Given the description of an element on the screen output the (x, y) to click on. 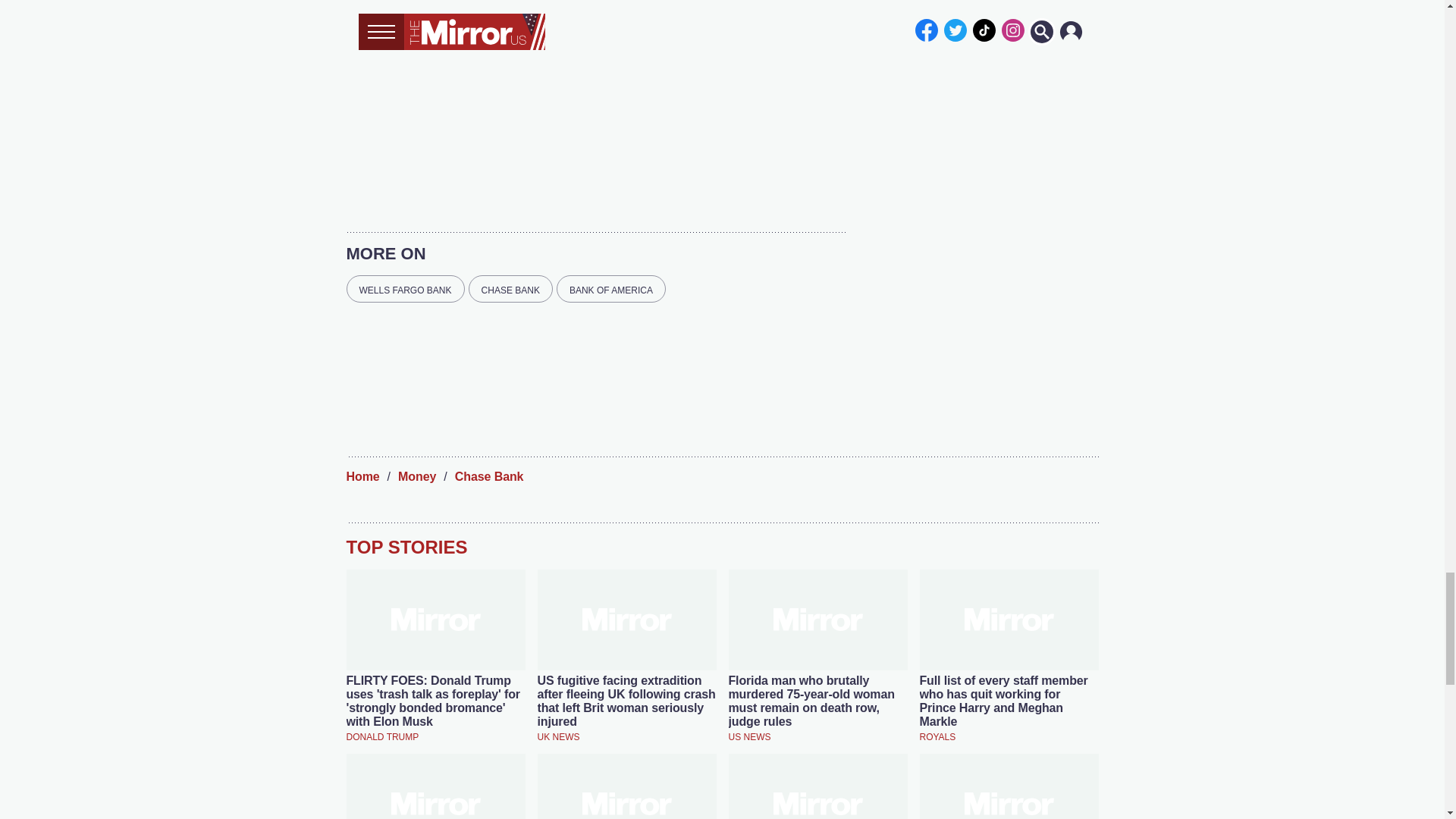
BANK OF AMERICA (610, 288)
CHASE BANK (510, 288)
WELLS FARGO BANK (405, 288)
